Given the description of an element on the screen output the (x, y) to click on. 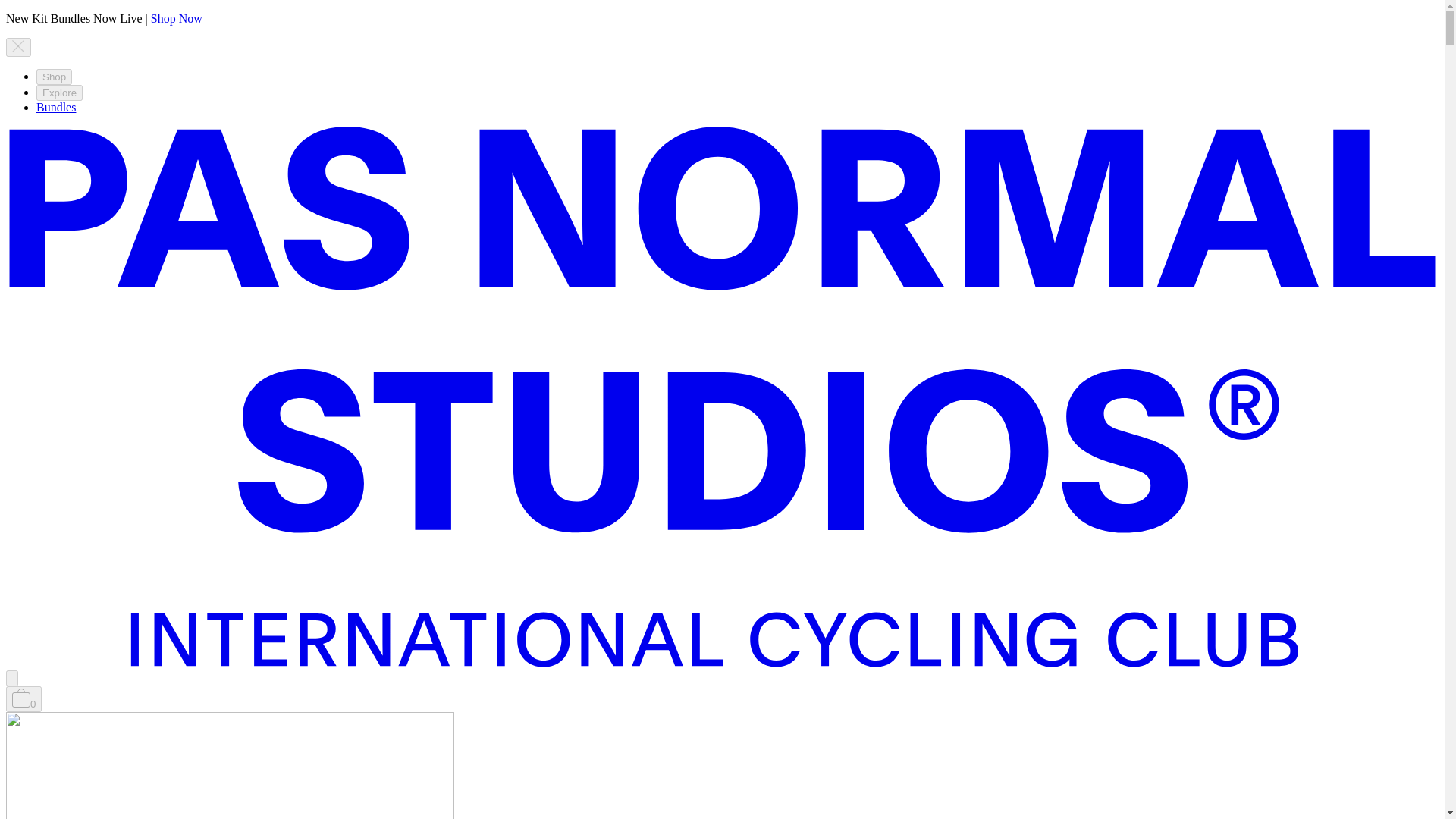
Explore (59, 92)
0 (23, 698)
Shop (53, 76)
Shop Now (176, 18)
